Given the description of an element on the screen output the (x, y) to click on. 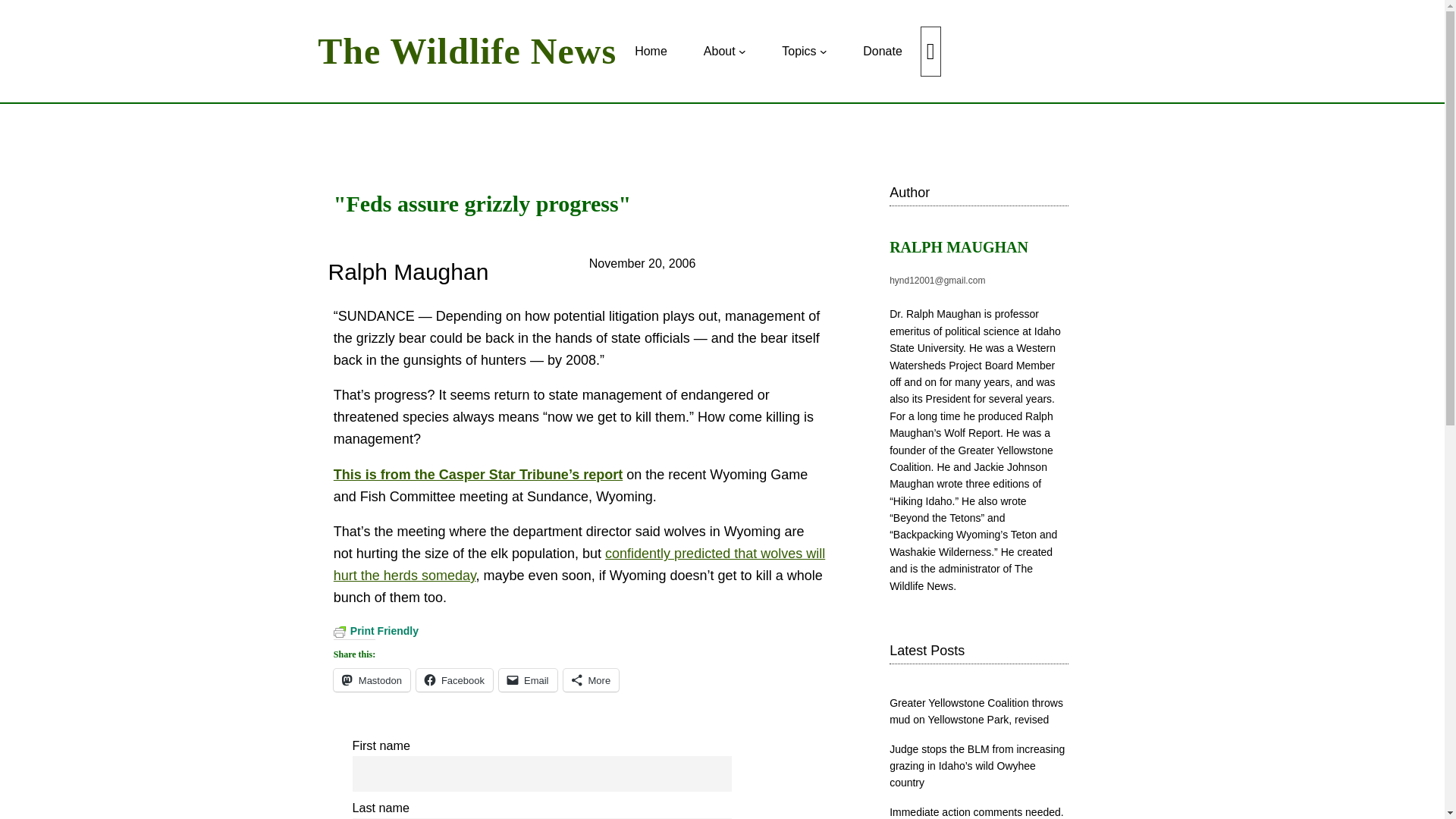
Click to share on Facebook (454, 680)
Click to share on Mastodon (371, 680)
Topics (798, 51)
Feds assure grizzly progress (478, 474)
Click to email a link to a friend (528, 680)
The Wildlife News (466, 51)
Home (650, 51)
About (719, 51)
